Given the description of an element on the screen output the (x, y) to click on. 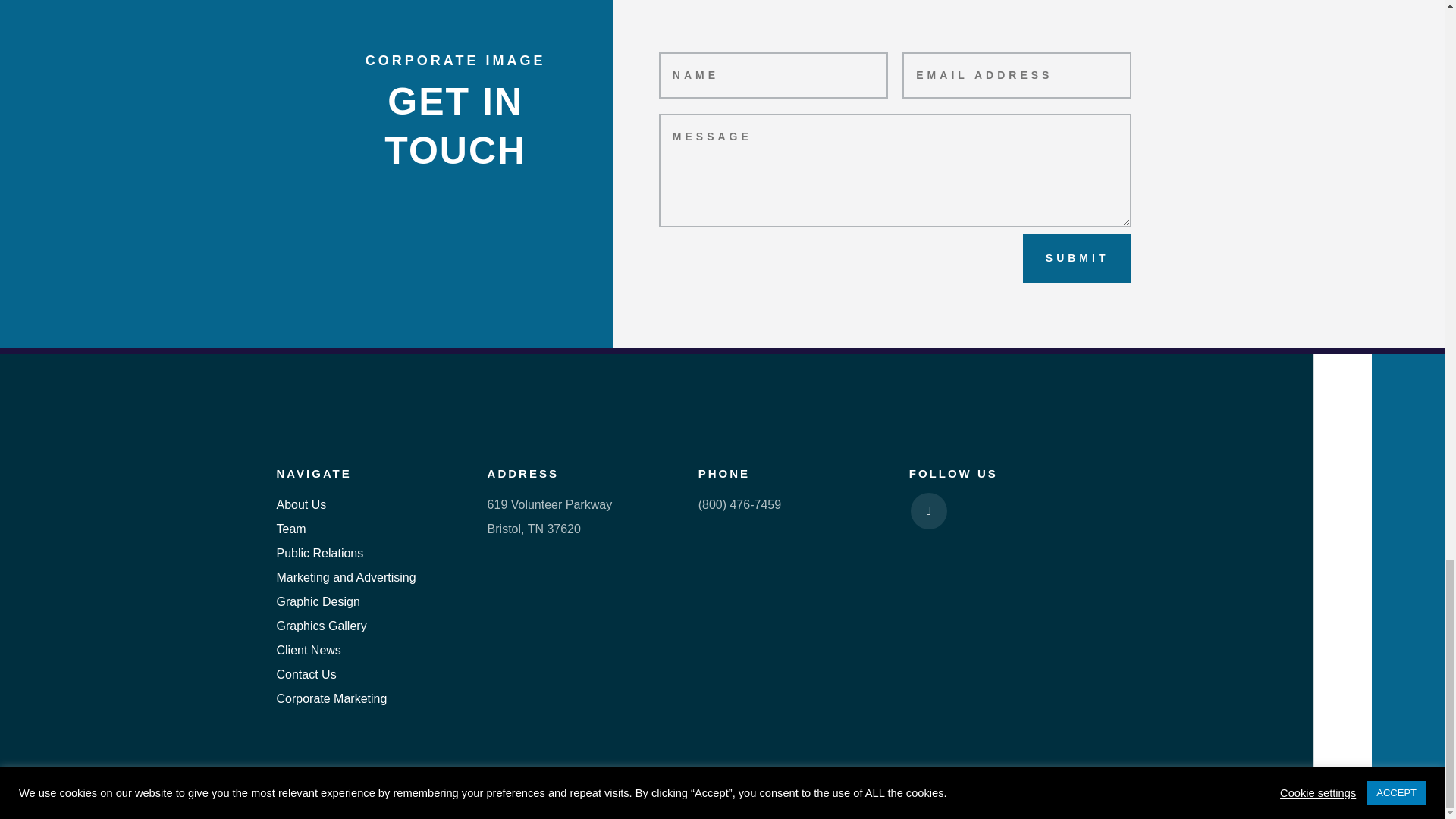
SUBMIT (1077, 258)
Follow on Facebook (929, 511)
